Given the description of an element on the screen output the (x, y) to click on. 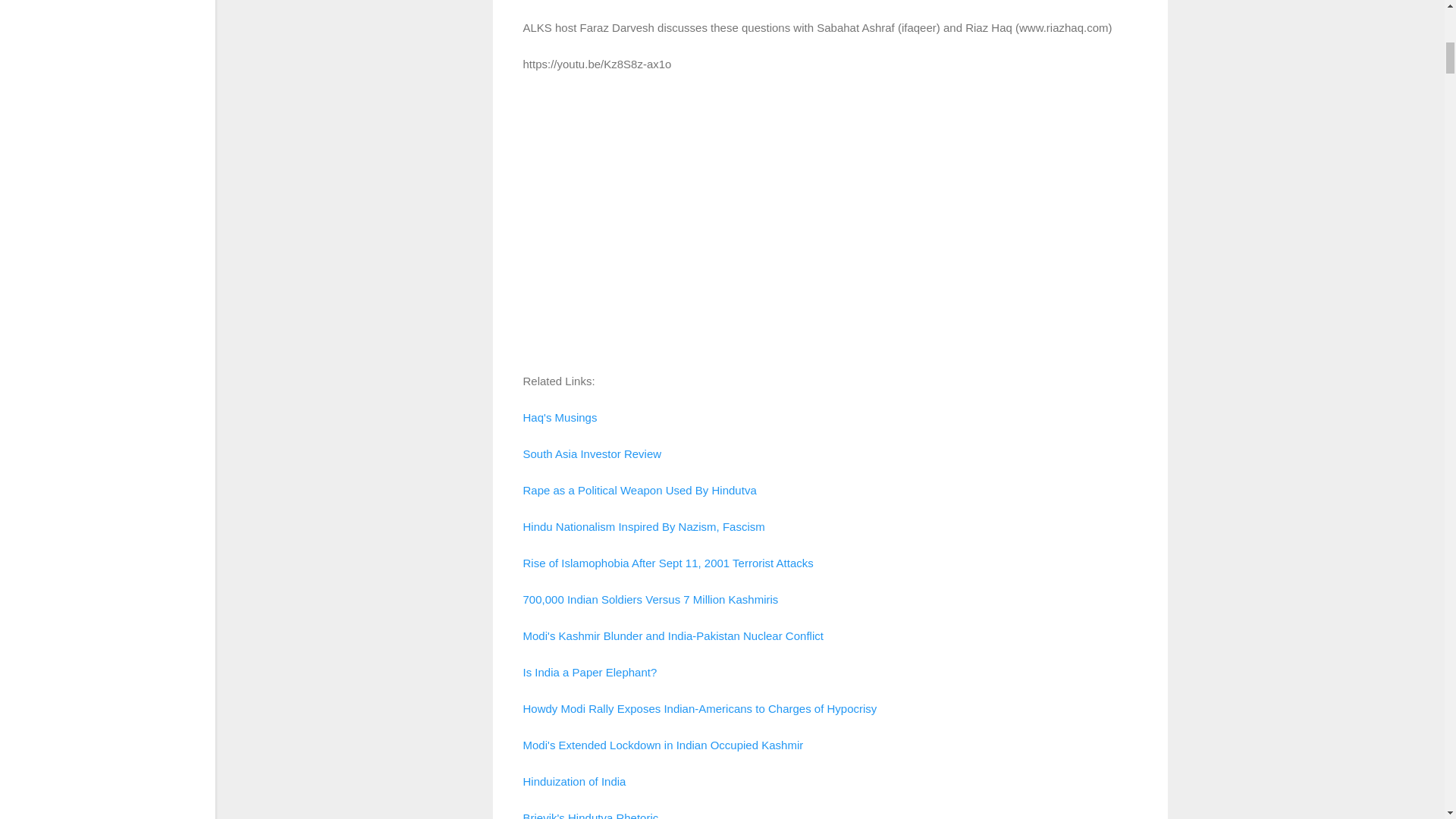
Brievik's Hindutva Rhetoric (590, 815)
Haq's Musings (559, 417)
Rape as a Political Weapon Used By Hindutva (639, 490)
Hindu Nationalism Inspired By Nazism, Fascism (643, 526)
Hinduization of India (574, 780)
South Asia Investor Review (592, 453)
Modi's Kashmir Blunder and India-Pakistan Nuclear Conflict (673, 635)
Rise of Islamophobia After Sept 11, 2001 Terrorist Attacks (667, 562)
700,000 Indian Soldiers Versus 7 Million Kashmiris (650, 599)
Modi's Extended Lockdown in Indian Occupied Kashmir (662, 744)
Is India a Paper Elephant?  (591, 671)
